Given the description of an element on the screen output the (x, y) to click on. 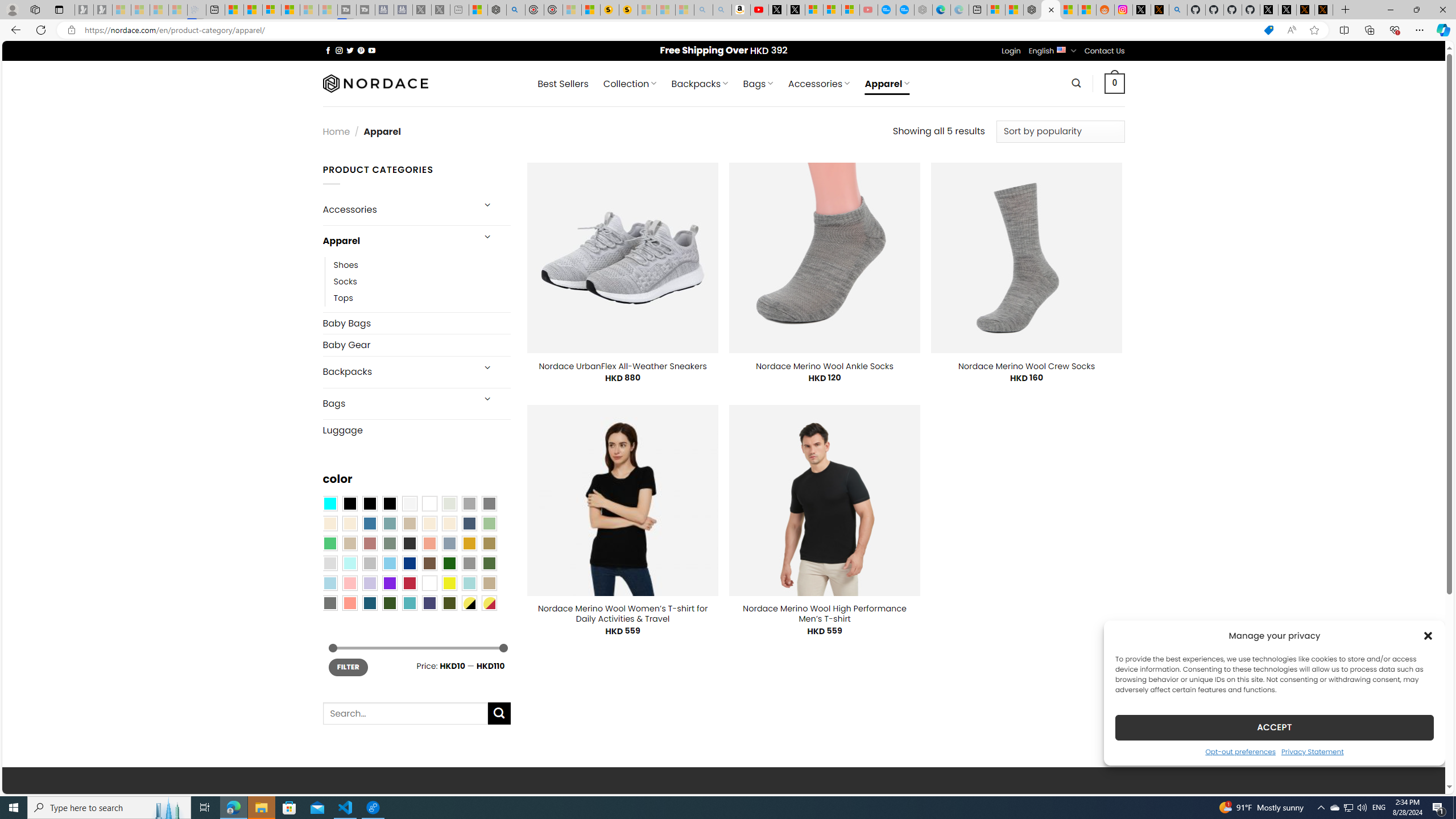
Gloom - YouTube - Sleeping (868, 9)
Class: cmplz-close (1428, 635)
Beige-Brown (349, 522)
Aqua (468, 582)
  0   (1115, 83)
Black (369, 503)
Login (1010, 50)
amazon - Search - Sleeping (702, 9)
Light Purple (369, 582)
